Given the description of an element on the screen output the (x, y) to click on. 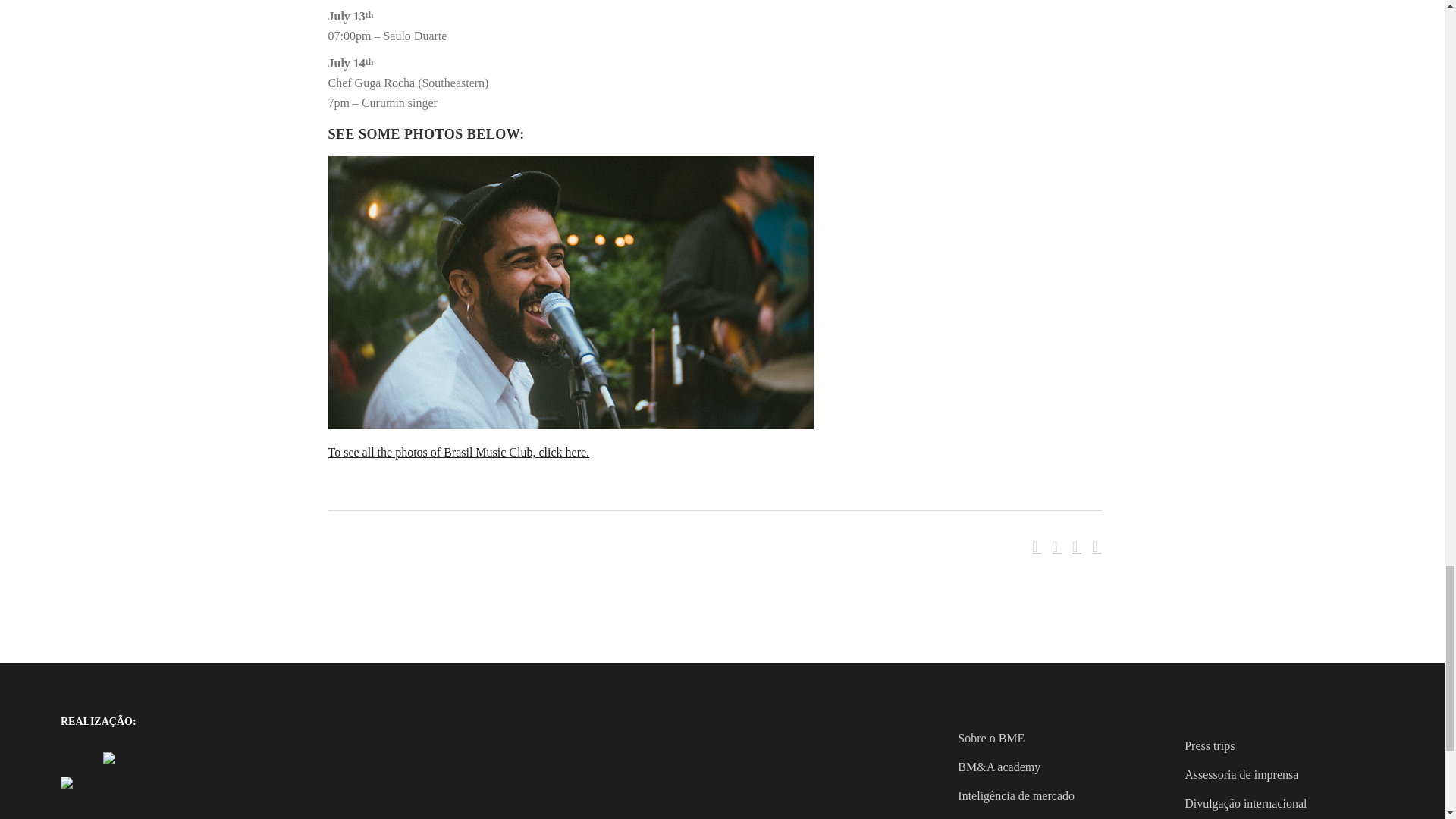
Brasil Music Club (569, 424)
